Given the description of an element on the screen output the (x, y) to click on. 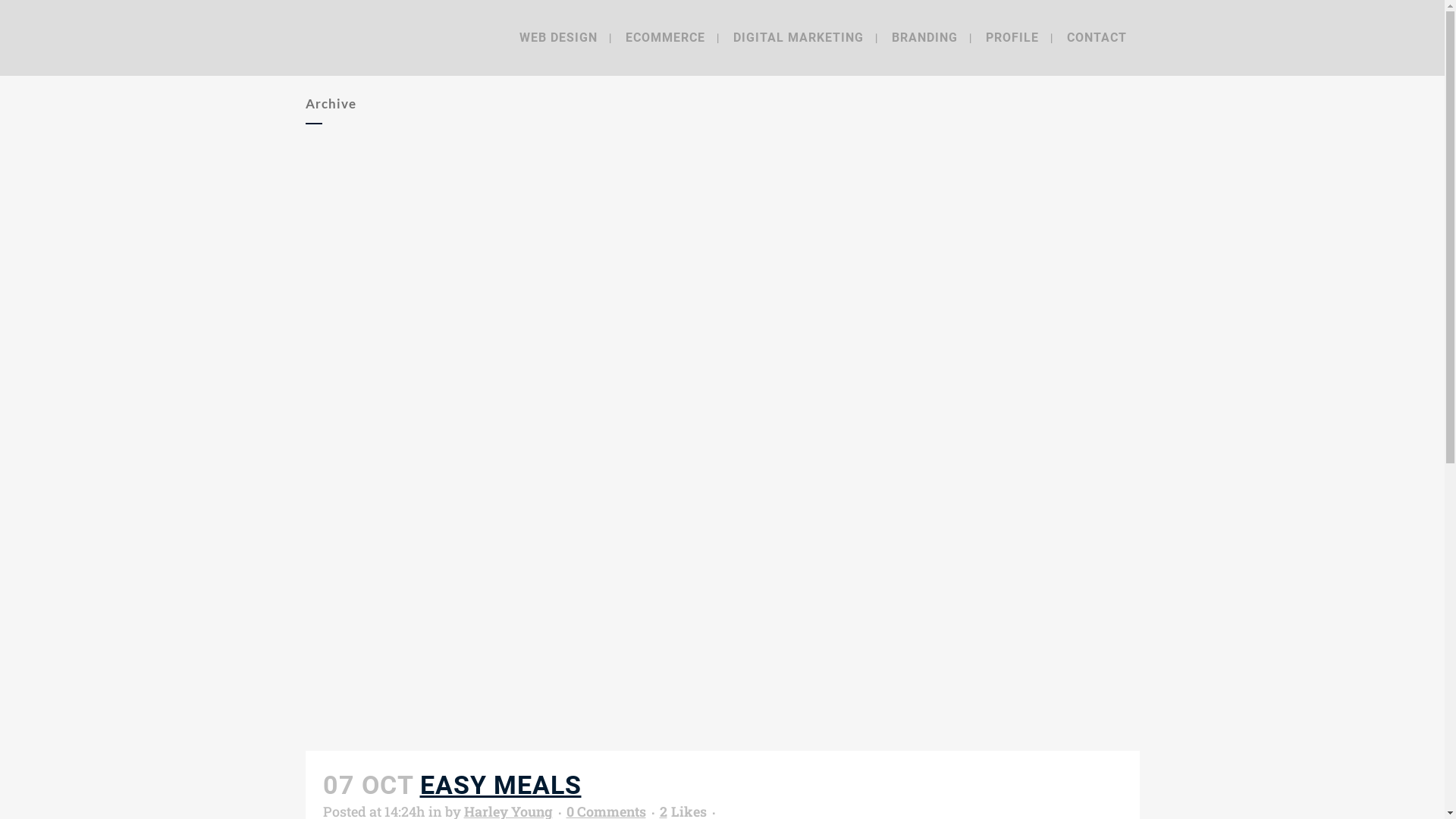
2 Likes Element type: text (682, 811)
Easy Meals Element type: hover (721, 450)
ECOMMERCE Element type: text (665, 37)
BRANDING Element type: text (923, 37)
PROFILE Element type: text (1011, 37)
WEB DESIGN Element type: text (558, 37)
EASY MEALS Element type: text (500, 784)
CONTACT Element type: text (1096, 37)
DIGITAL MARKETING Element type: text (798, 37)
